Given the description of an element on the screen output the (x, y) to click on. 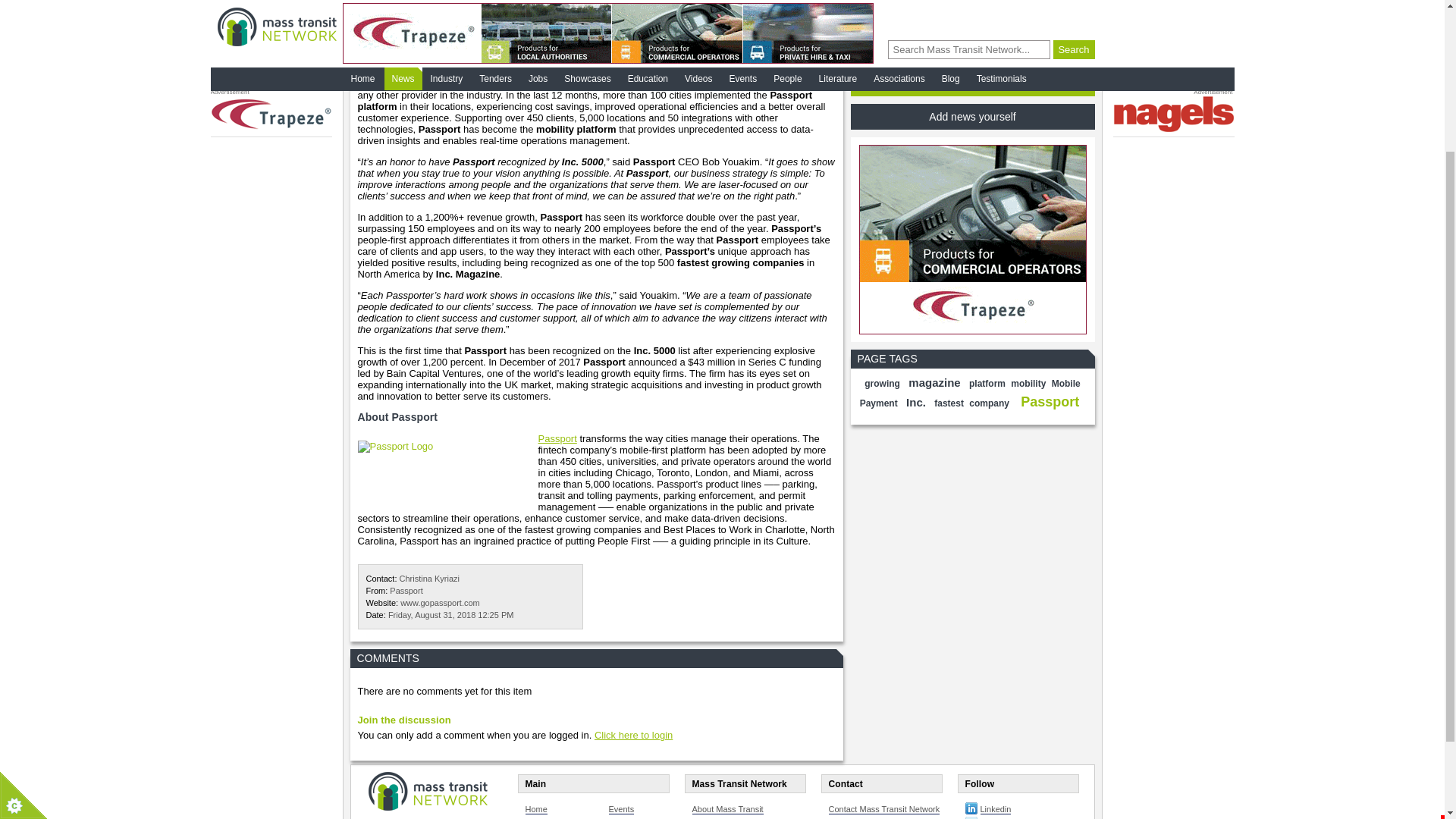
Go to Passport (557, 438)
View profile of Passport (406, 590)
Payment (879, 403)
Mobile (1065, 383)
View website of Passport (440, 602)
www.gopassport.com (440, 602)
magazine (933, 382)
platform (987, 383)
Passport (406, 590)
